Given the description of an element on the screen output the (x, y) to click on. 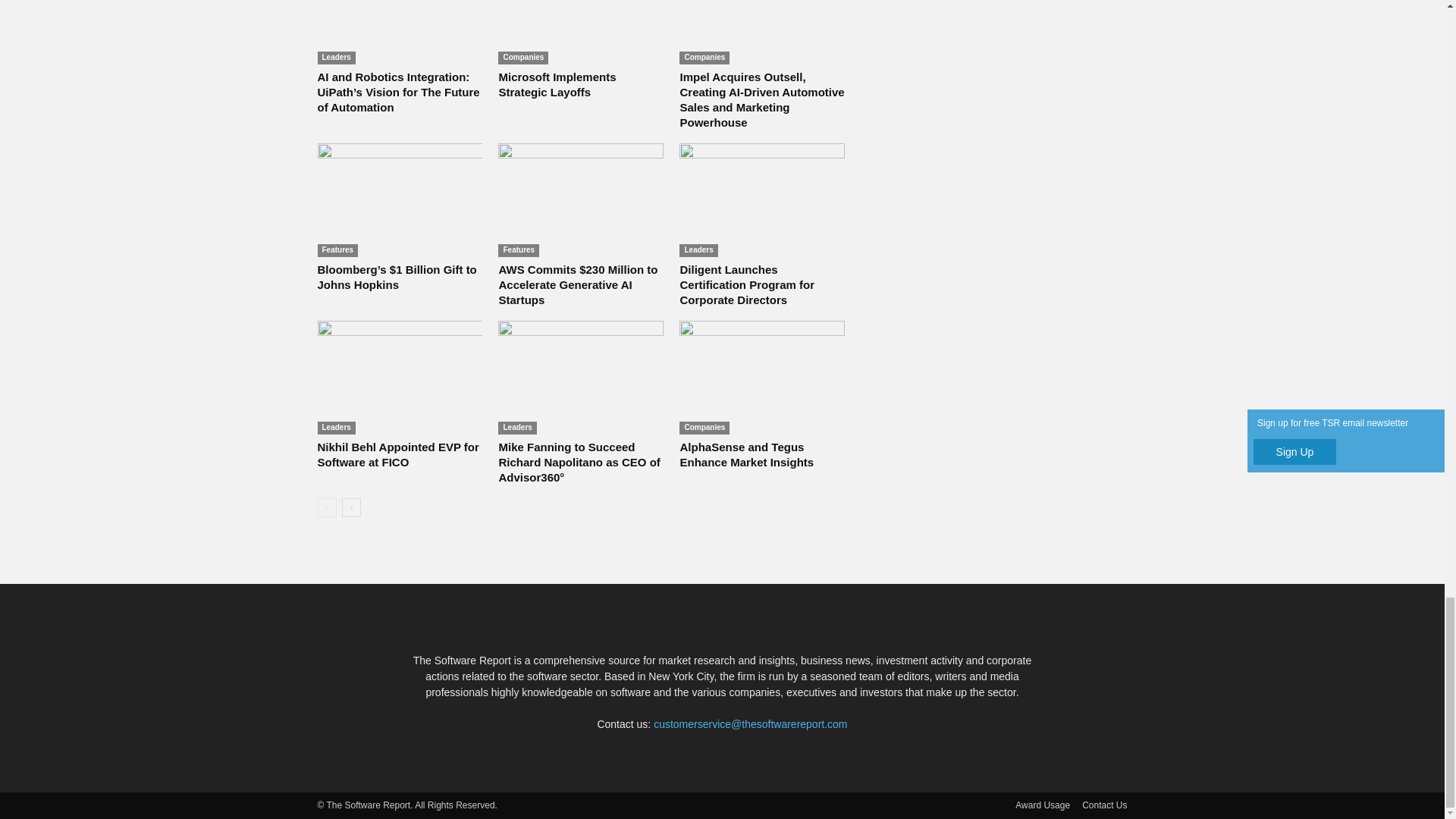
Microsoft Implements Strategic Layoffs (580, 32)
